Given the description of an element on the screen output the (x, y) to click on. 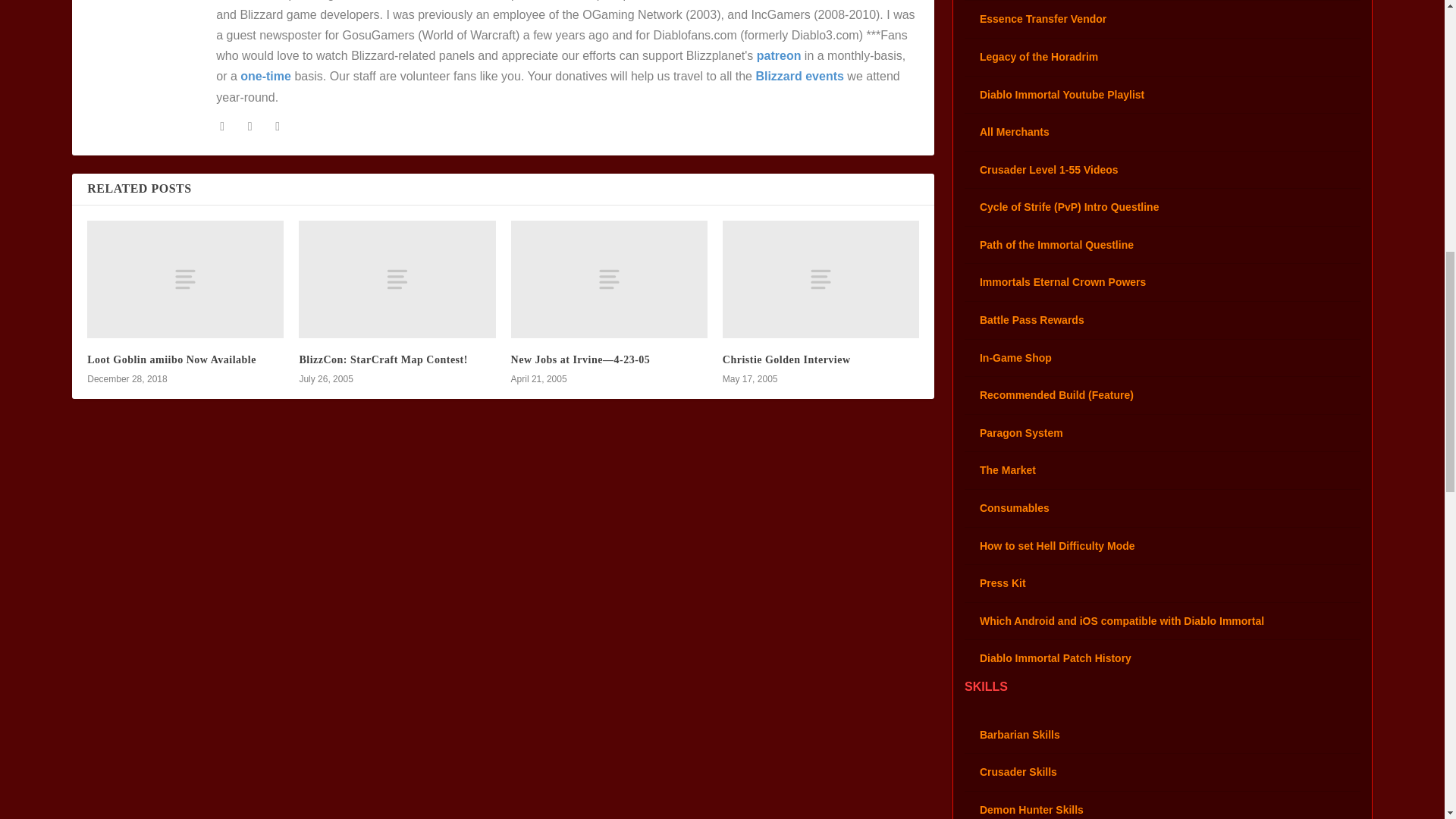
BlizzCon: StarCraft Map Contest! (382, 359)
Loot Goblin amiibo Now Available (171, 359)
one-time (265, 75)
patreon (779, 55)
Blizzard events (799, 75)
